Given the description of an element on the screen output the (x, y) to click on. 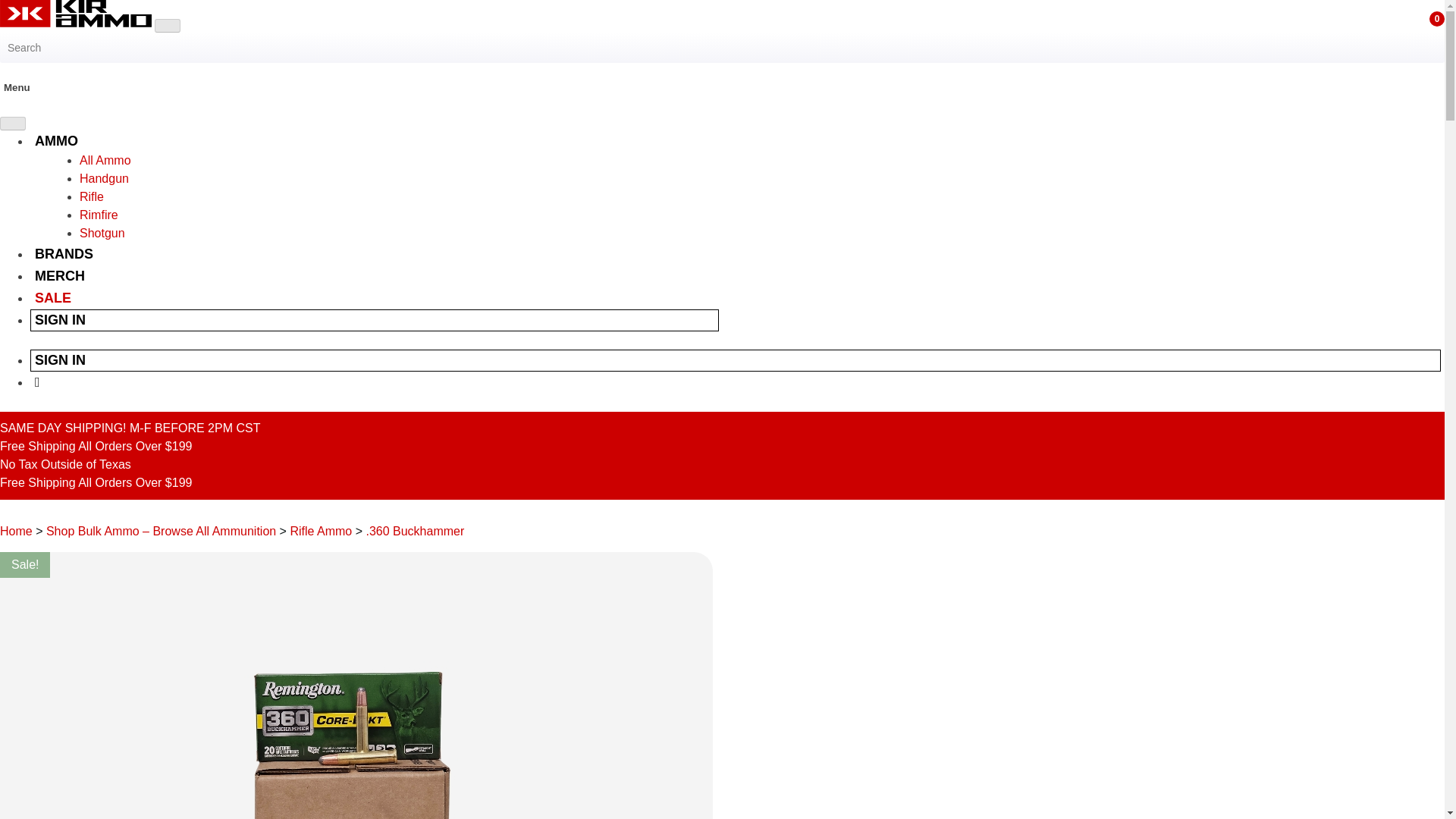
Rimfire (98, 214)
No Tax Outside of Texas (65, 463)
Rifle Ammo (320, 530)
Handgun (104, 178)
Shotgun (102, 232)
SIGN IN (59, 359)
SALE (52, 297)
MERCH (59, 275)
SAME DAY SHIPPING! M-F BEFORE 2PM CST (130, 427)
.360 Buckhammer (414, 530)
AMMO (56, 140)
SIGN IN (59, 319)
All Ammo (105, 160)
Rifle (91, 196)
